Given the description of an element on the screen output the (x, y) to click on. 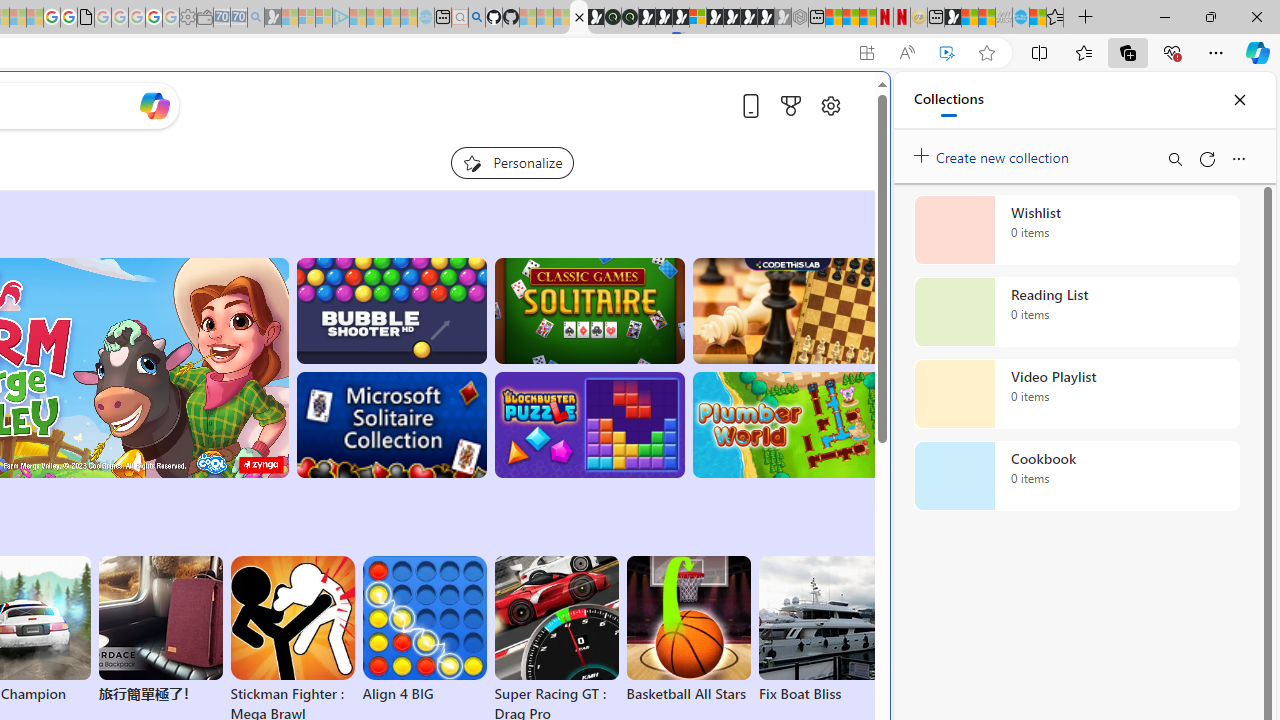
App available. Install Games from Microsoft Start (867, 53)
Cookbook collection, 0 items (1076, 475)
Wishlist collection, 0 items (1076, 229)
Bubble Shooter HD (390, 310)
Sign in to your account (697, 17)
